Given the description of an element on the screen output the (x, y) to click on. 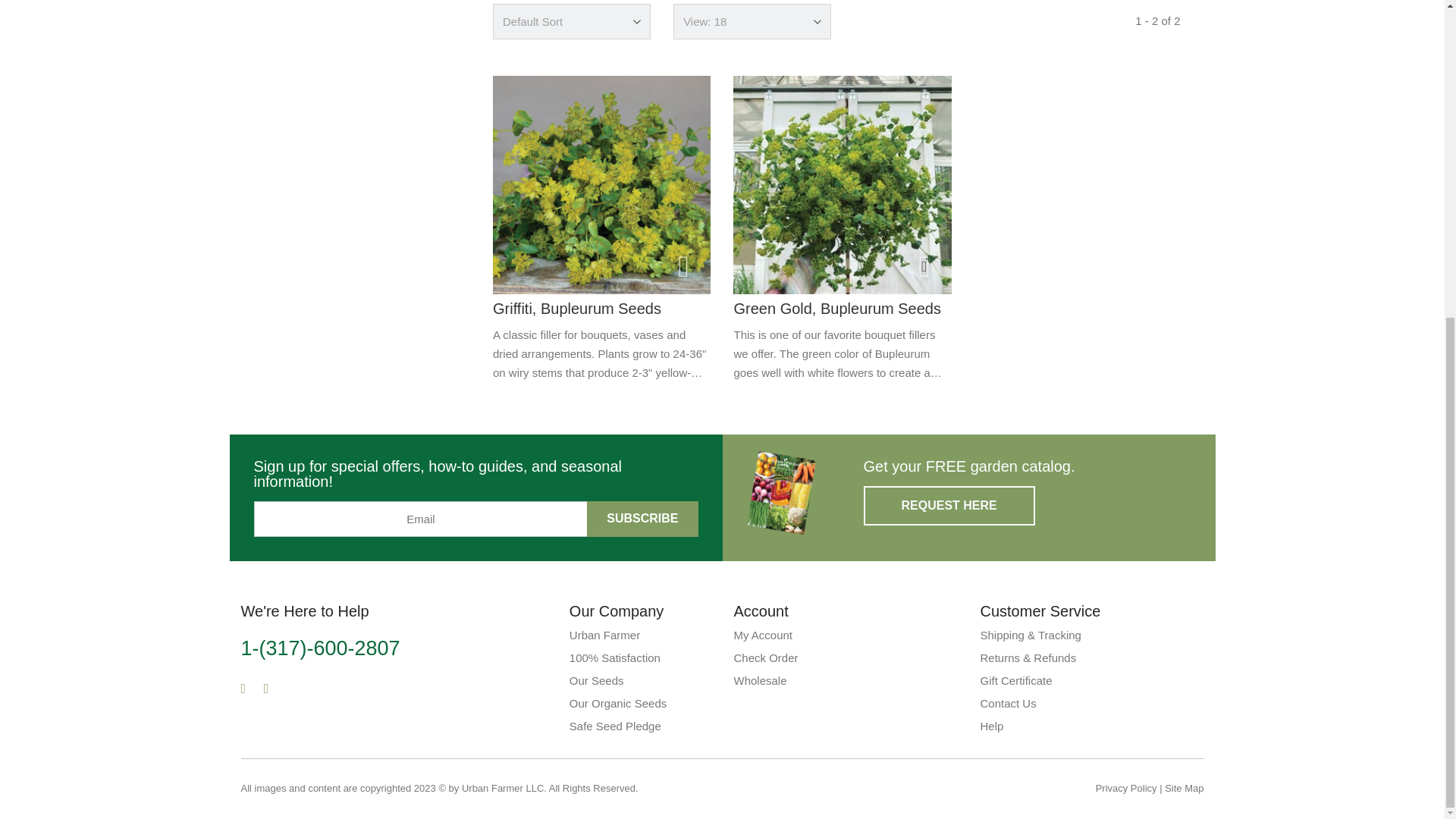
Our Seeds (596, 680)
Urban Farmer (604, 634)
Go to Check Order (765, 657)
Griffiti, Bupleurum Seeds (601, 184)
Safe Seed Pledge (615, 725)
Quick View for Griffiti, Bupleurum Seeds (683, 266)
Our Organic Seeds (617, 703)
Go to Help (1015, 680)
Wholesale (759, 680)
Quick View for Green Gold, Bupleurum Seeds (923, 266)
Green Gold, Bupleurum Seeds (841, 184)
Go to My Account (762, 634)
